Given the description of an element on the screen output the (x, y) to click on. 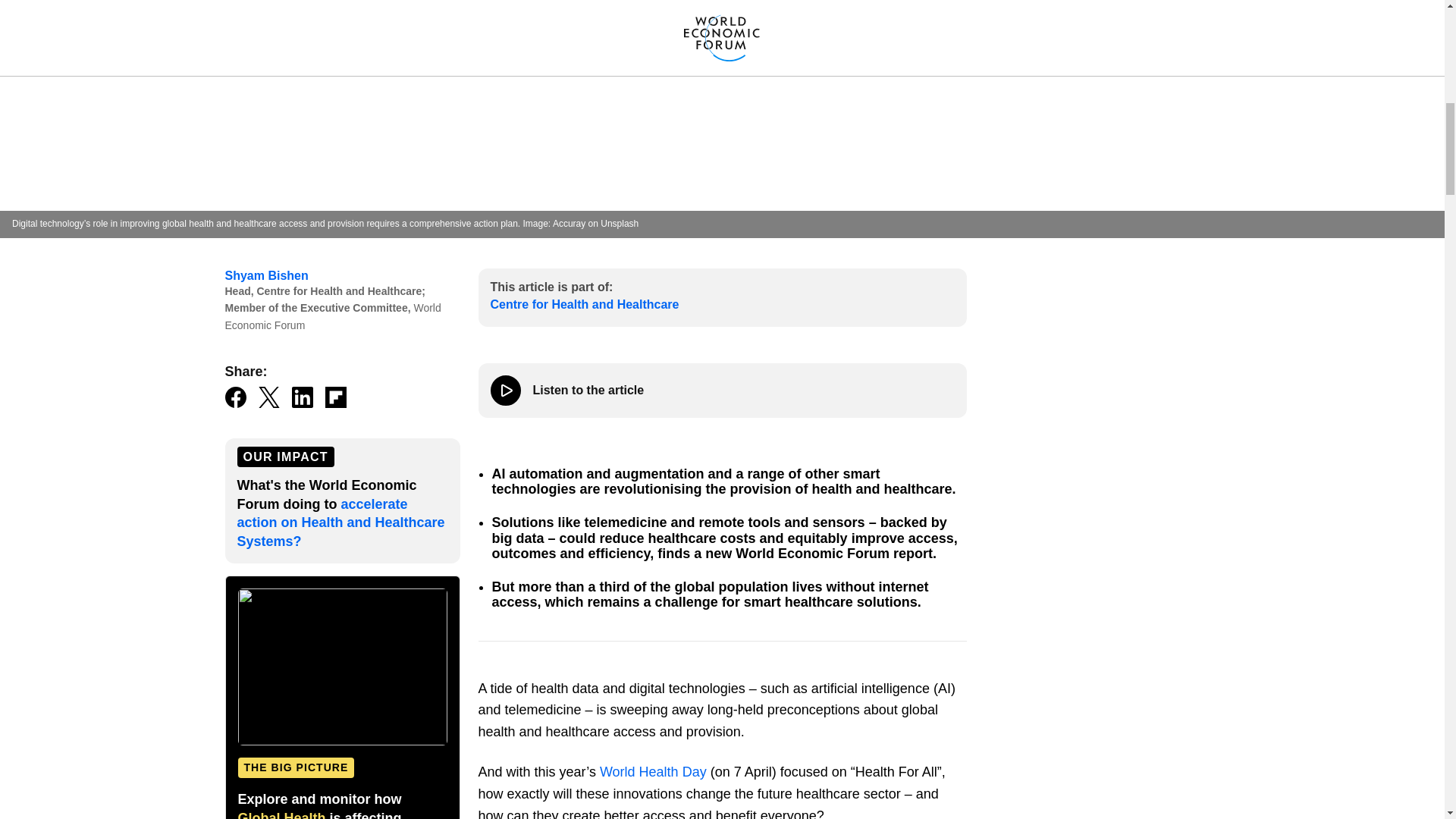
Shyam Bishen (265, 275)
Centre for Health and Healthcare (583, 304)
World Health Day (652, 771)
